Given the description of an element on the screen output the (x, y) to click on. 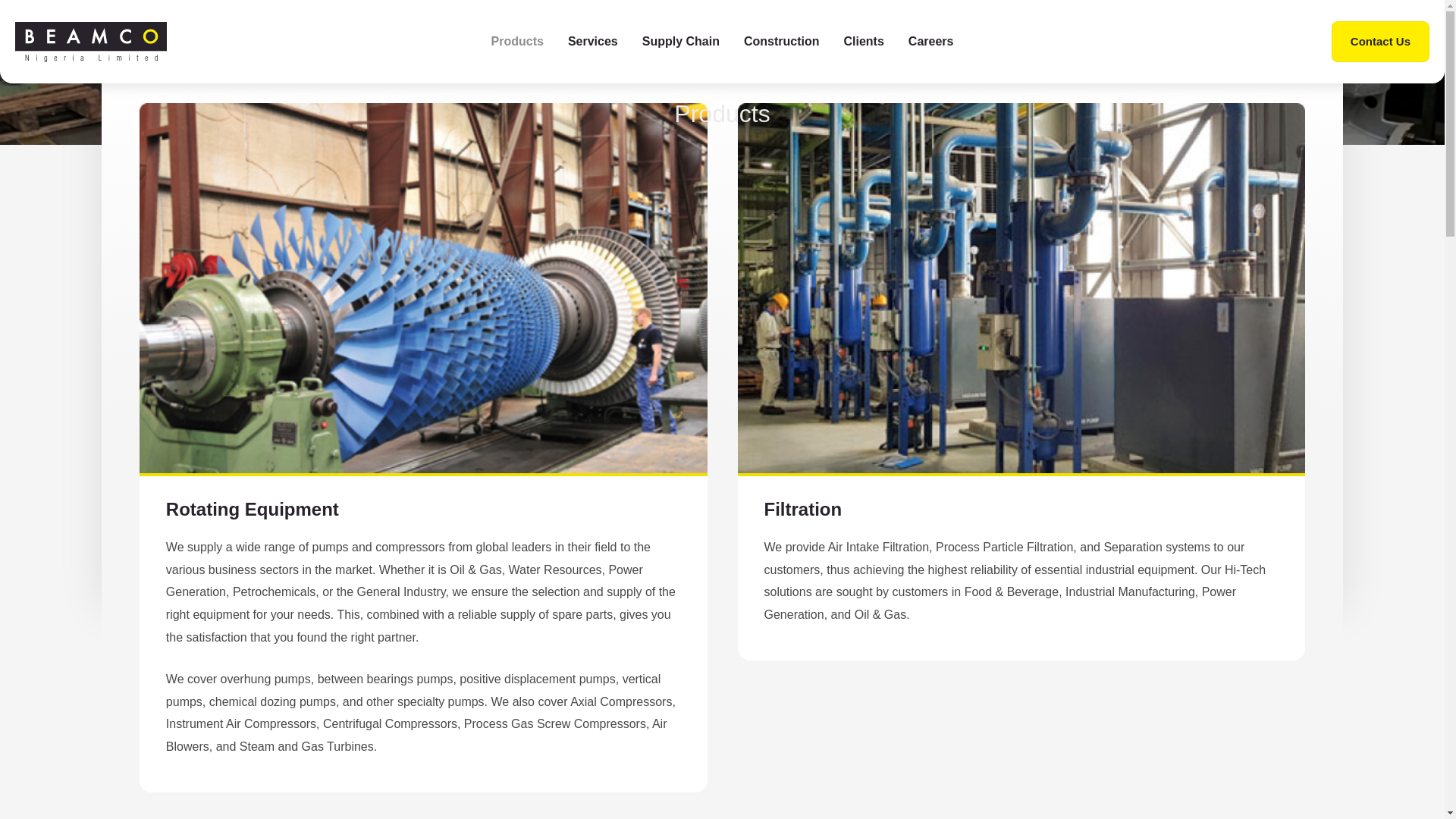
Construction (781, 41)
Careers (931, 41)
Products (517, 41)
Supply Chain (681, 41)
Clients (863, 41)
Services (593, 41)
Contact Us (1380, 41)
